Given the description of an element on the screen output the (x, y) to click on. 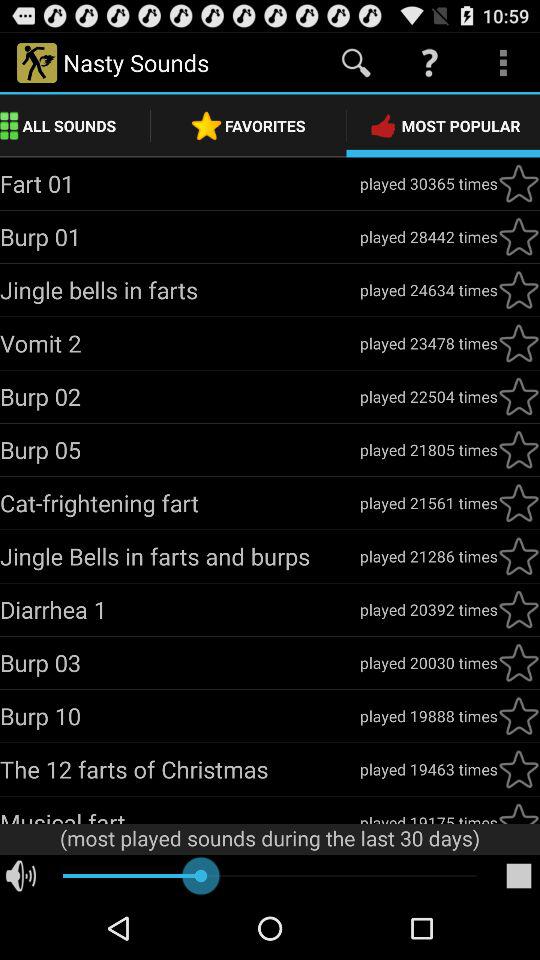
toggle favorite (519, 450)
